Given the description of an element on the screen output the (x, y) to click on. 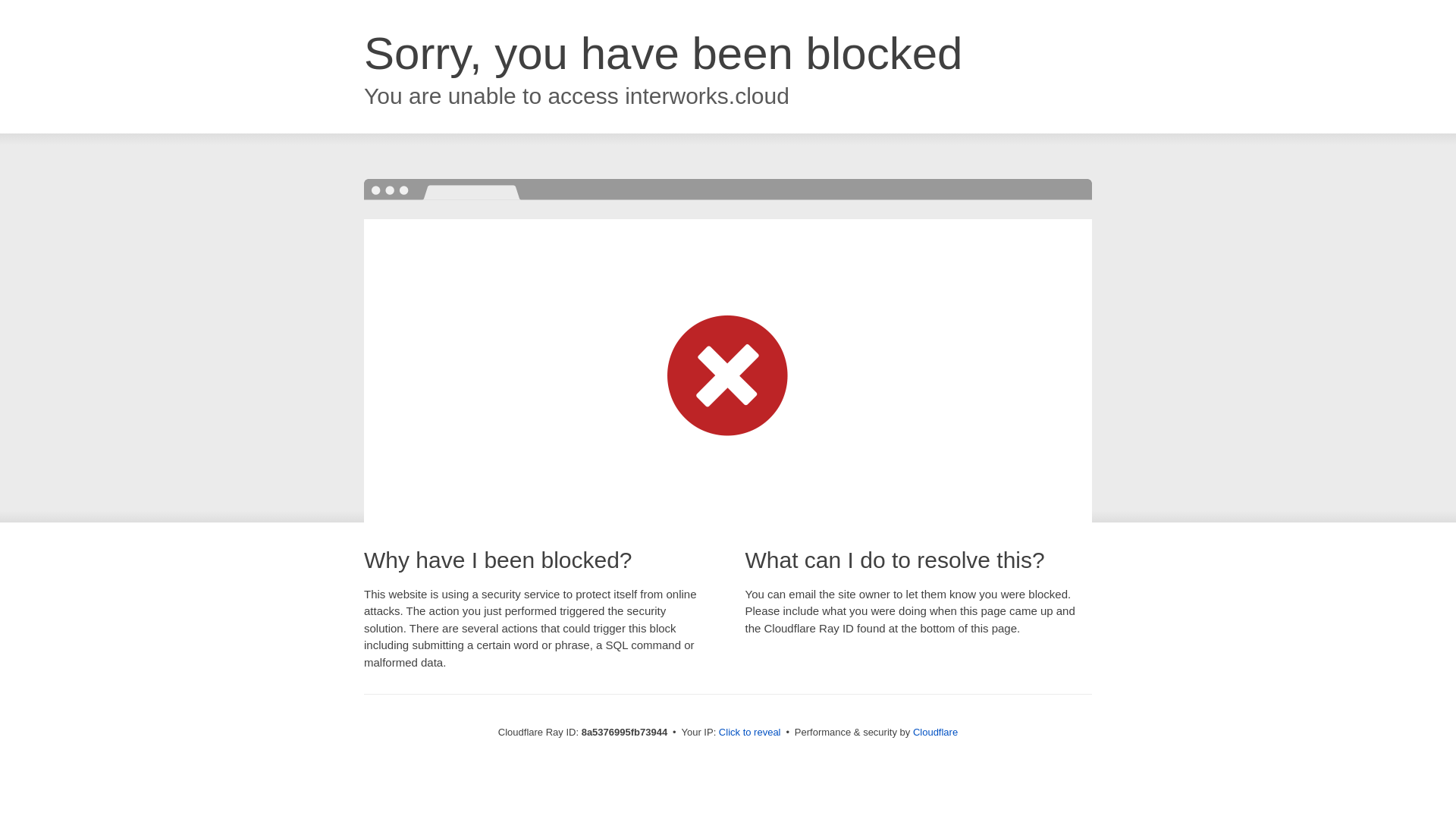
Cloudflare (935, 731)
Click to reveal (749, 732)
